Given the description of an element on the screen output the (x, y) to click on. 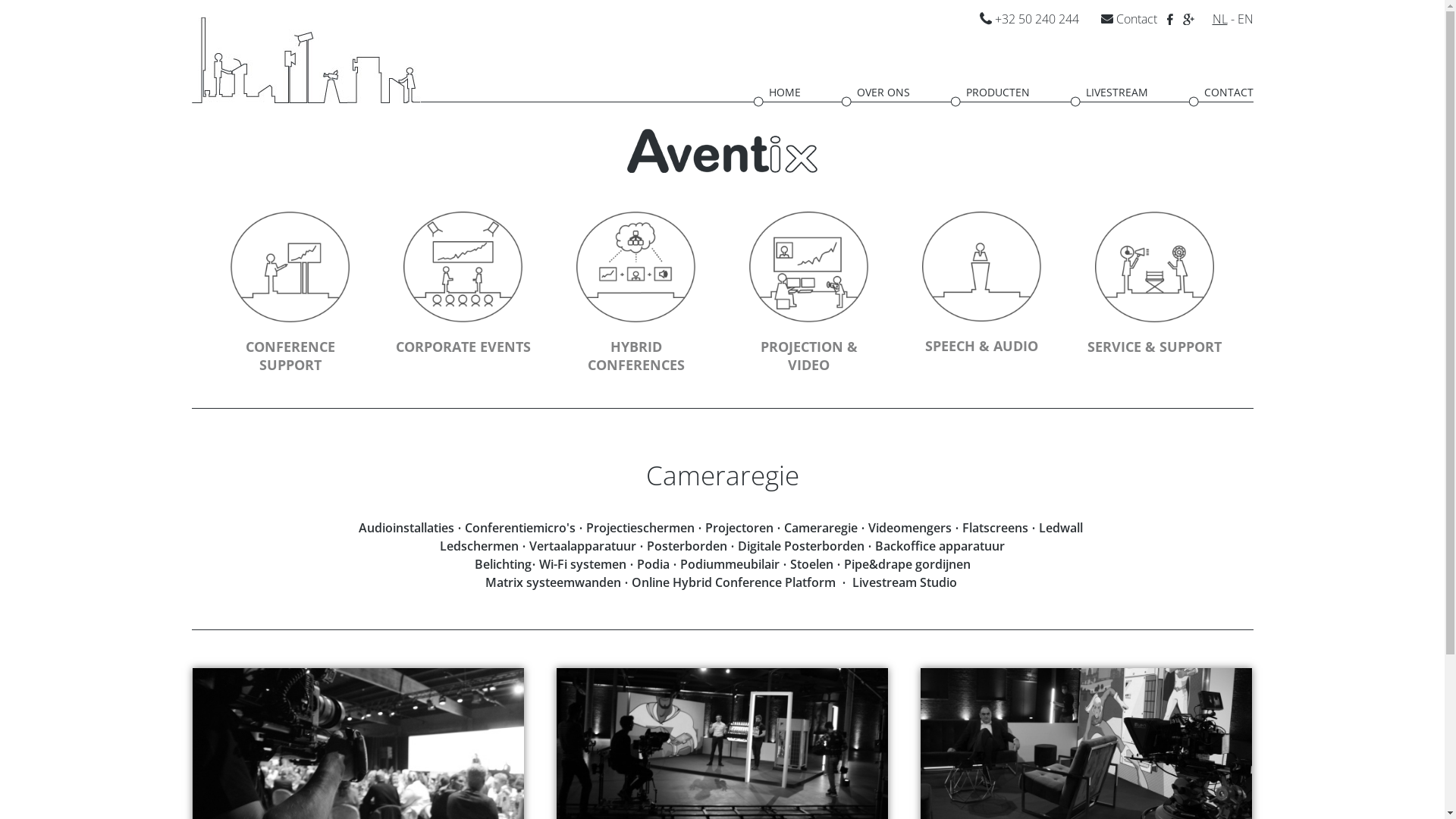
Pipe&drape gordijnen Element type: text (906, 563)
Ledschermen Element type: text (478, 545)
CONTACT Element type: text (1221, 93)
Belichting Element type: text (502, 563)
Digitale Posterborden Element type: text (800, 545)
Backoffice apparatuur Element type: text (939, 545)
PRODUCTEN Element type: text (989, 93)
LIVESTREAM Element type: text (1109, 93)
Cameraregie Element type: text (820, 527)
Ledwall Element type: text (1060, 527)
Podiummeubilair Element type: text (728, 563)
Flatscreens Element type: text (995, 527)
SPEECH & AUDIO Element type: text (981, 282)
Contact Element type: text (1129, 18)
OVER ONS Element type: text (875, 93)
NL Element type: text (1218, 18)
Projectoren Element type: text (739, 527)
Livestream Studio Element type: text (904, 582)
EN Element type: text (1245, 18)
CONFERENCE SUPPORT Element type: text (289, 292)
Audioinstallaties Element type: text (406, 527)
Projectieschermen Element type: text (640, 527)
Matrix systeemwanden Element type: text (553, 582)
Stoelen Element type: text (811, 563)
PROJECTION & VIDEO Element type: text (808, 292)
HOME Element type: text (776, 93)
CORPORATE EVENTS Element type: text (462, 283)
Wi-Fi systemen Element type: text (581, 563)
Conferentiemicro's Element type: text (519, 527)
Online Hybrid Conference Platform  Element type: text (733, 582)
Posterborden Element type: text (686, 545)
HYBRID CONFERENCES Element type: text (635, 292)
Videomengers Element type: text (909, 527)
SERVICE & SUPPORT Element type: text (1154, 283)
Podia Element type: text (653, 563)
Vertaalapparatuur Element type: text (582, 545)
